Given the description of an element on the screen output the (x, y) to click on. 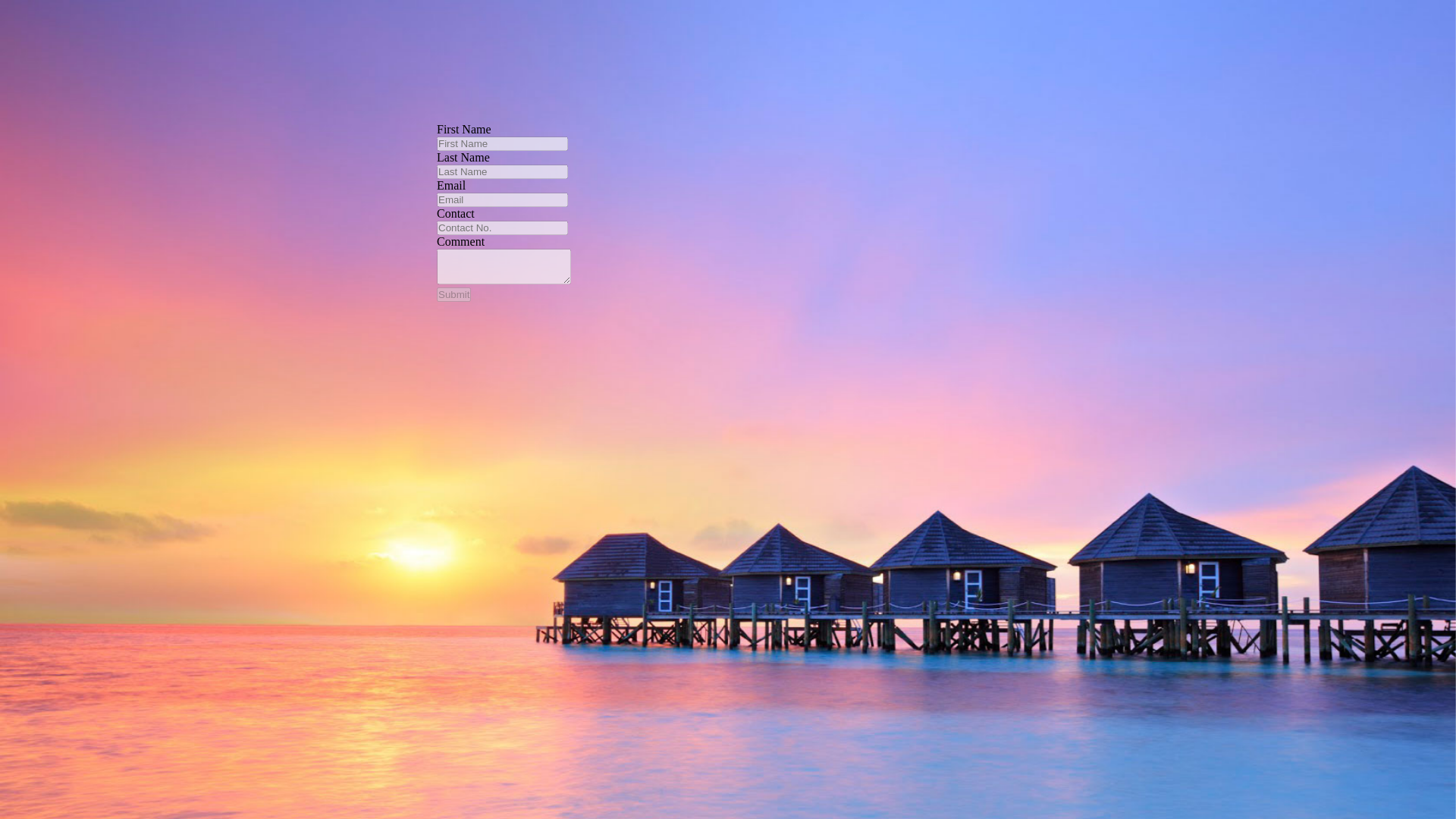
Sitemap (19, 220)
Home (14, 234)
visitfree.com (722, 75)
Our Web Site (100, 52)
download contemporary art world currents (506, 52)
Download Breaking The Chain Of Low Self-Esteem (437, 98)
download damage (1015, 52)
